Given the description of an element on the screen output the (x, y) to click on. 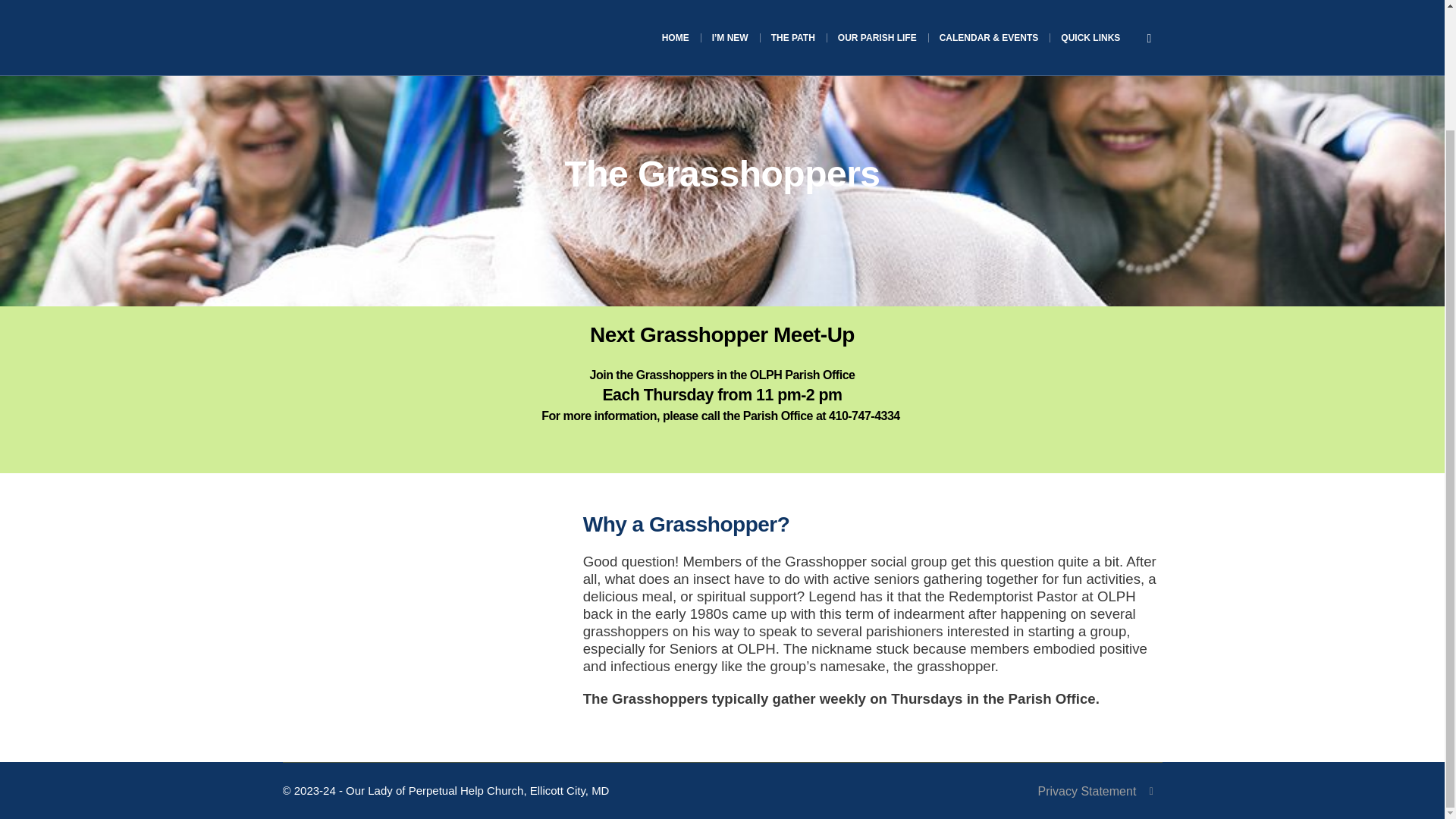
Facebook (1150, 791)
